Given the description of an element on the screen output the (x, y) to click on. 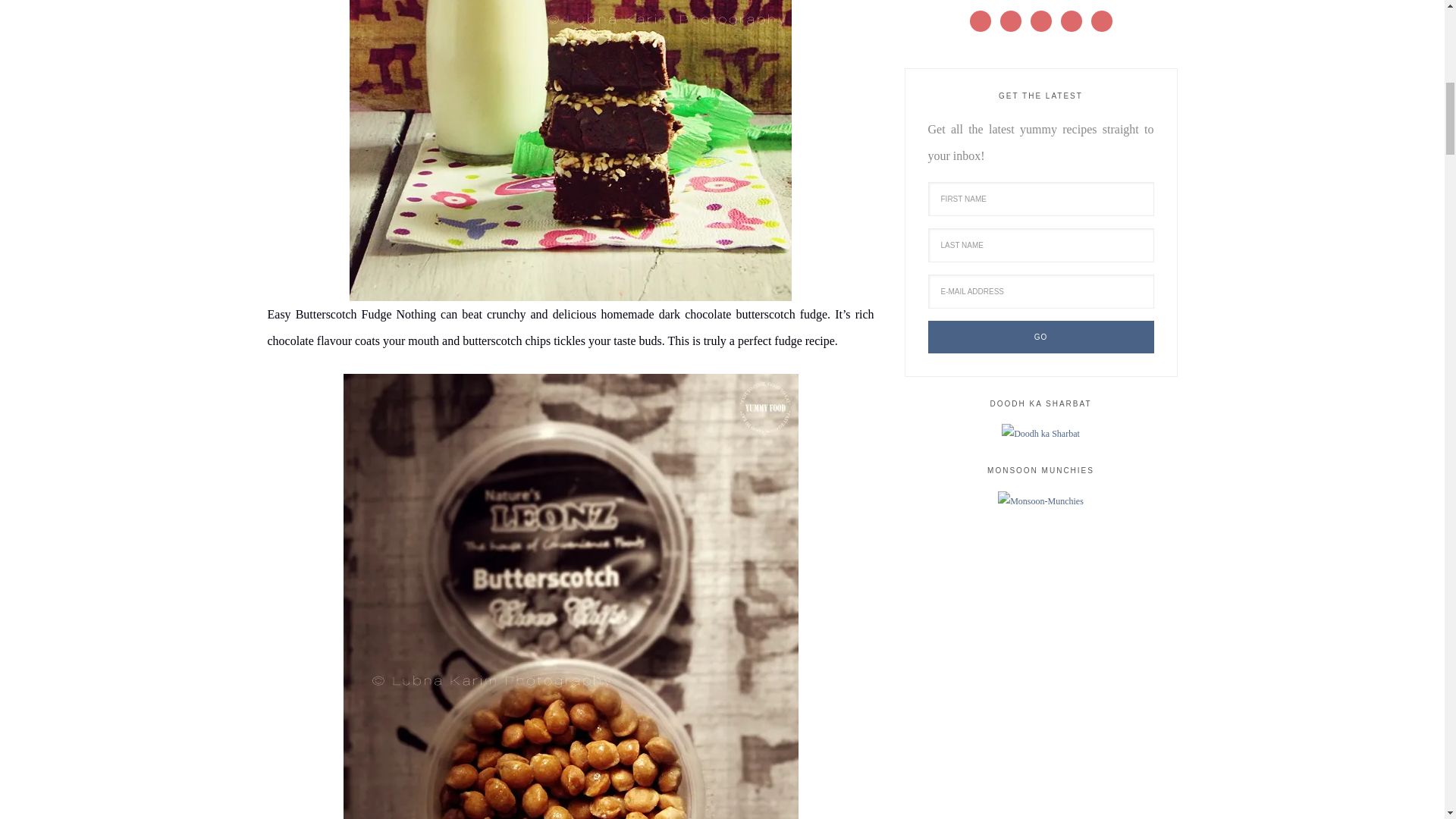
Go (1041, 336)
